Given the description of an element on the screen output the (x, y) to click on. 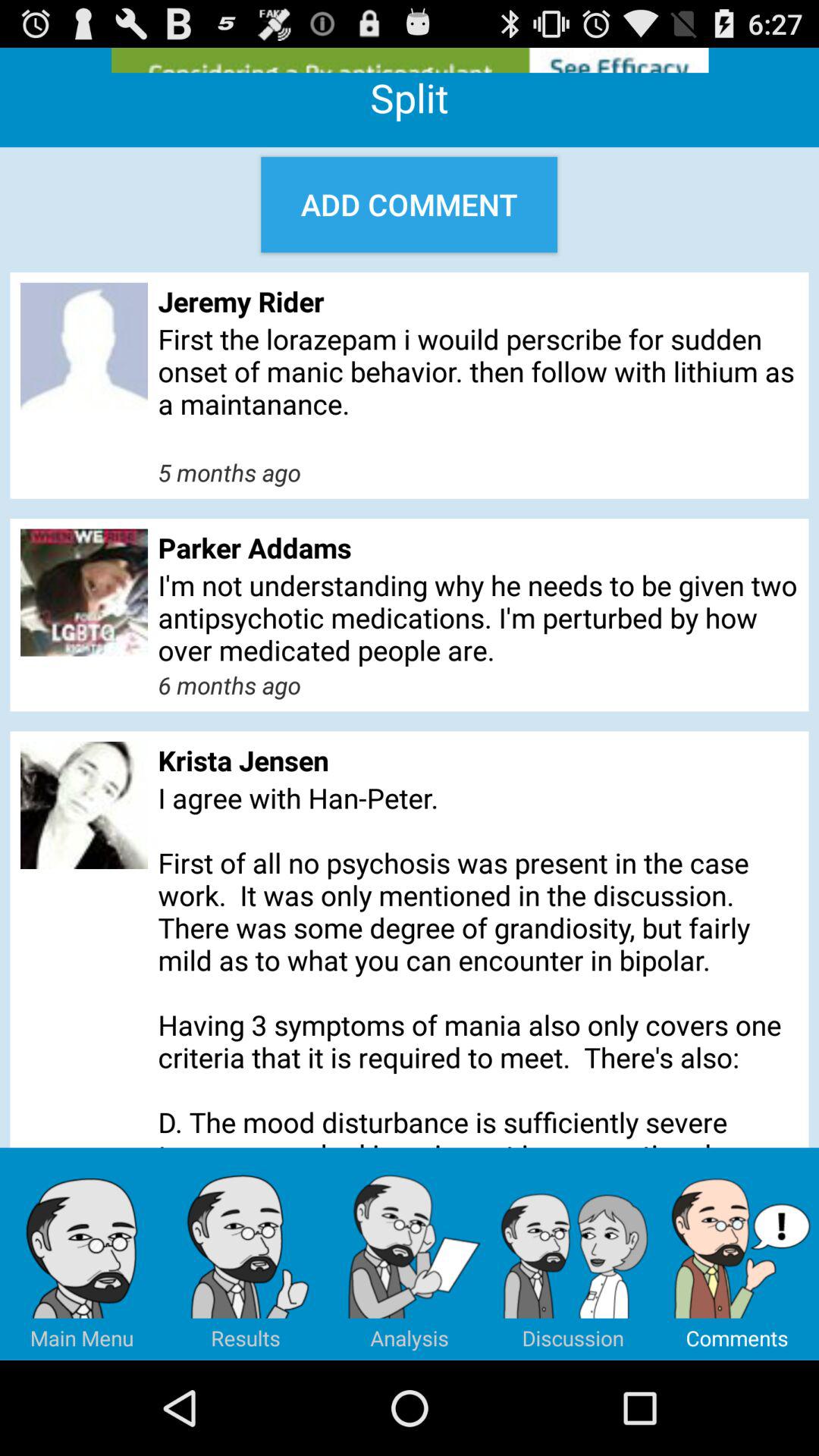
jump to the parker addams item (478, 547)
